Given the description of an element on the screen output the (x, y) to click on. 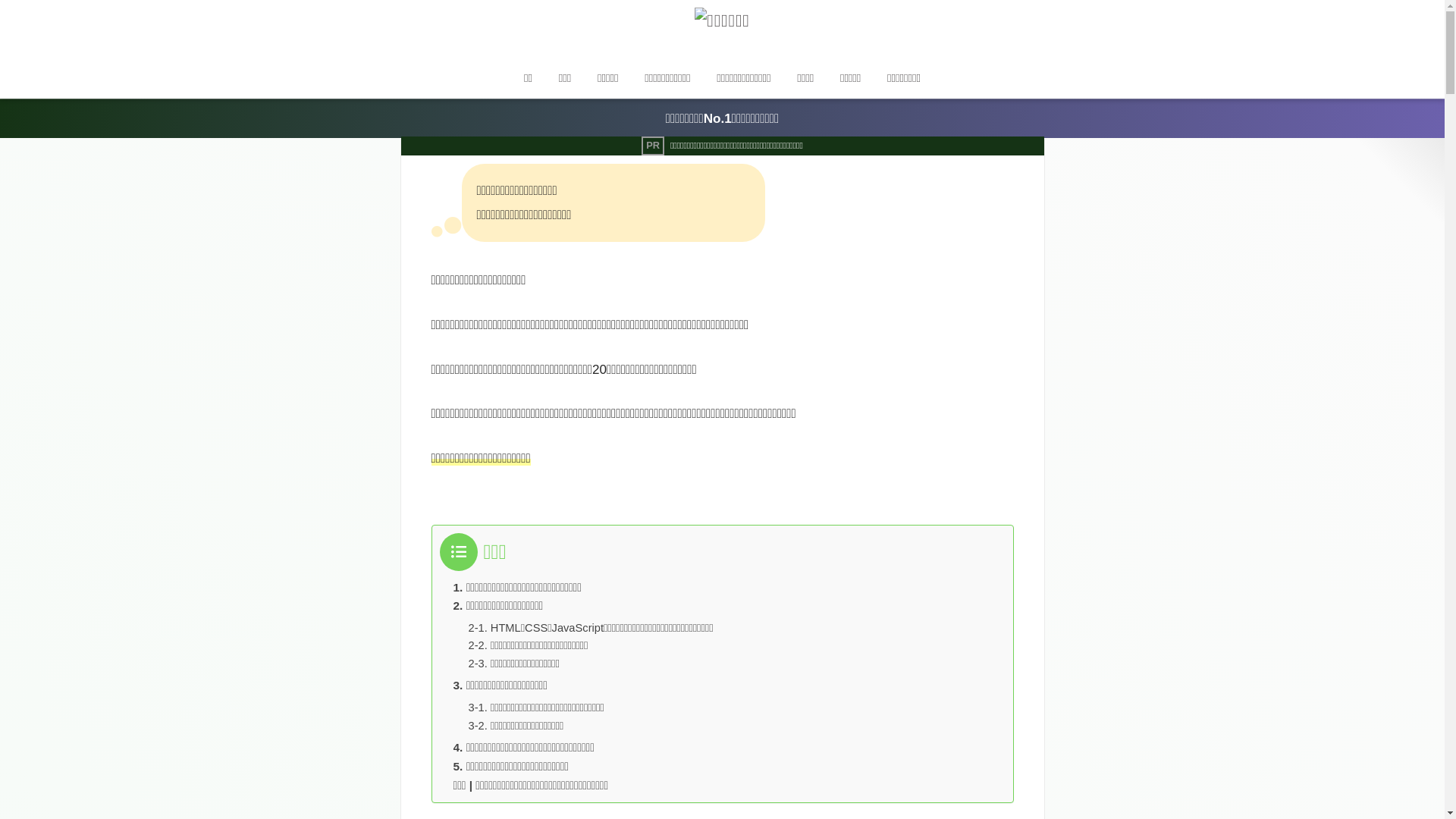
on Element type: text (4, 4)
